Given the description of an element on the screen output the (x, y) to click on. 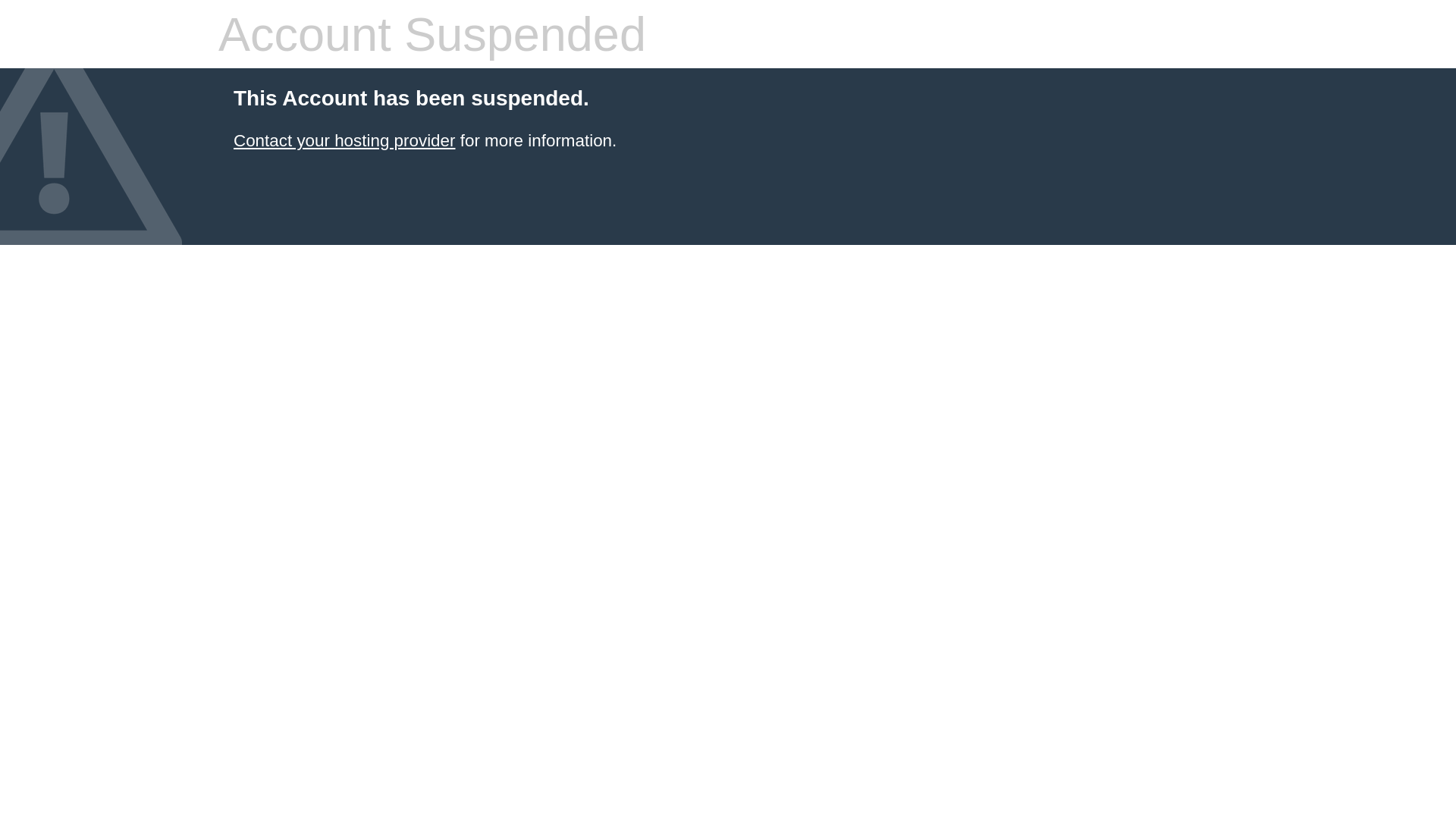
Contact your hosting provider Element type: text (344, 140)
